Given the description of an element on the screen output the (x, y) to click on. 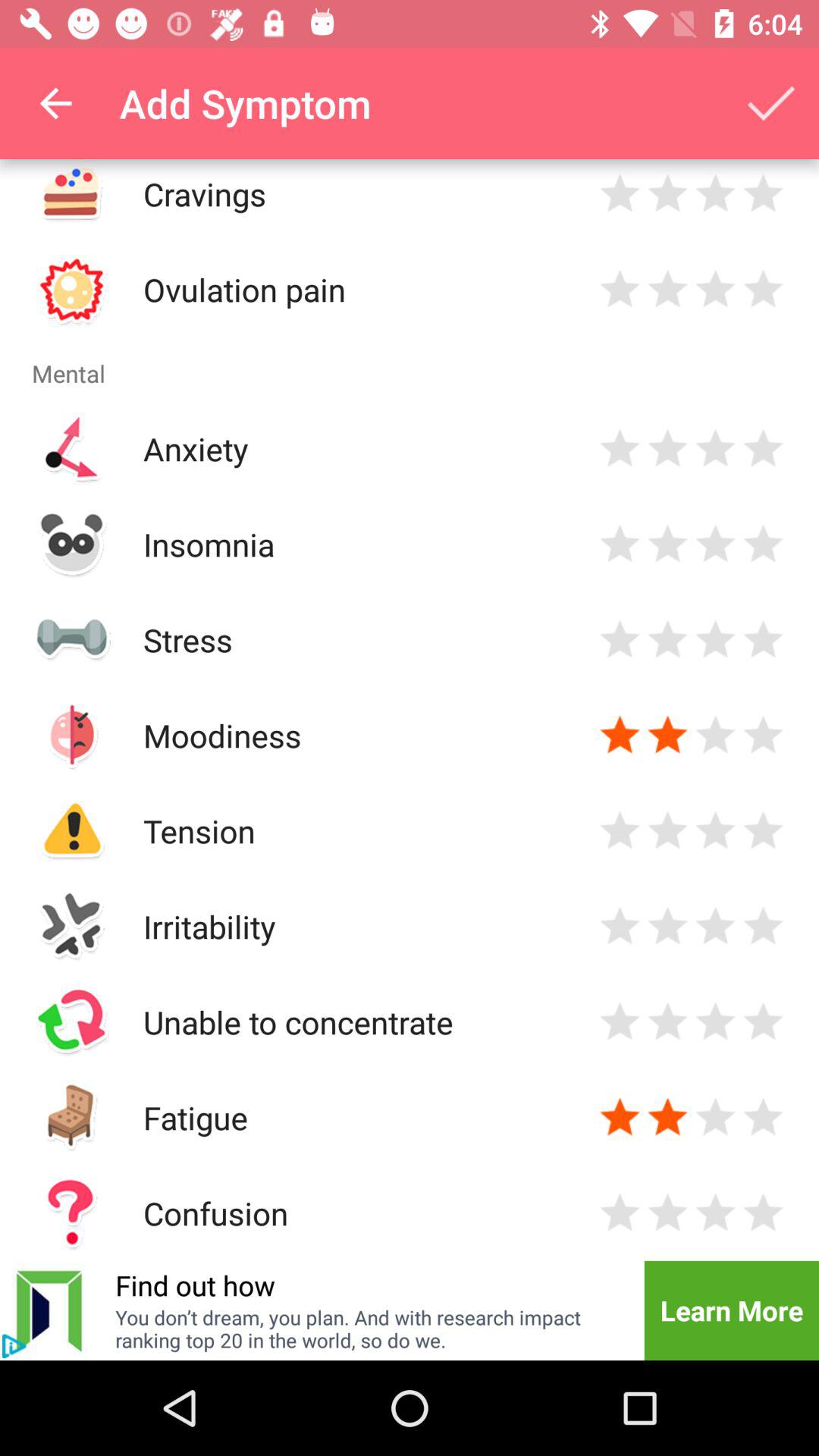
selects 4 stars for cravings (763, 193)
